Given the description of an element on the screen output the (x, y) to click on. 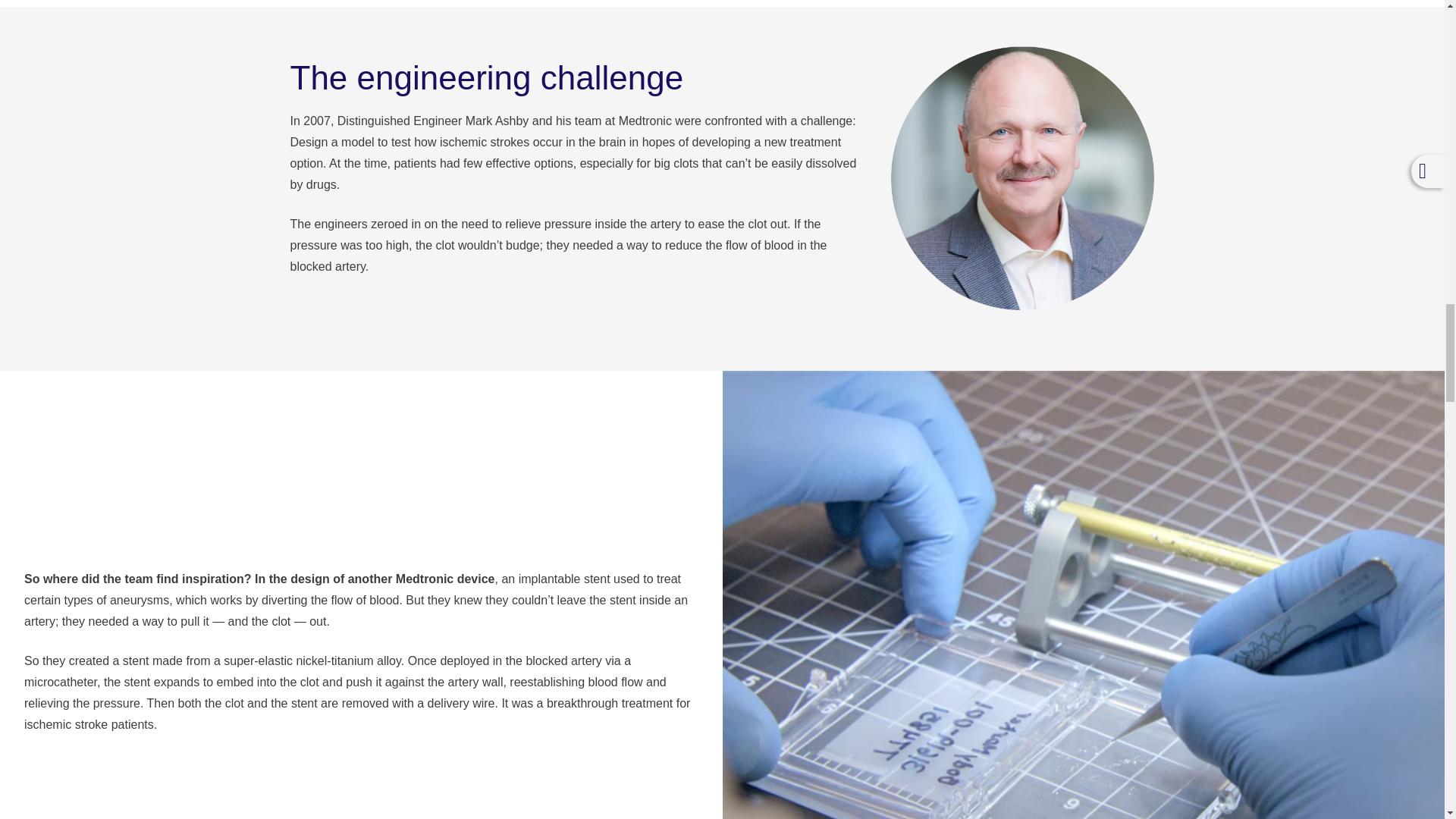
Mark Ashby photo (1021, 177)
